Given the description of an element on the screen output the (x, y) to click on. 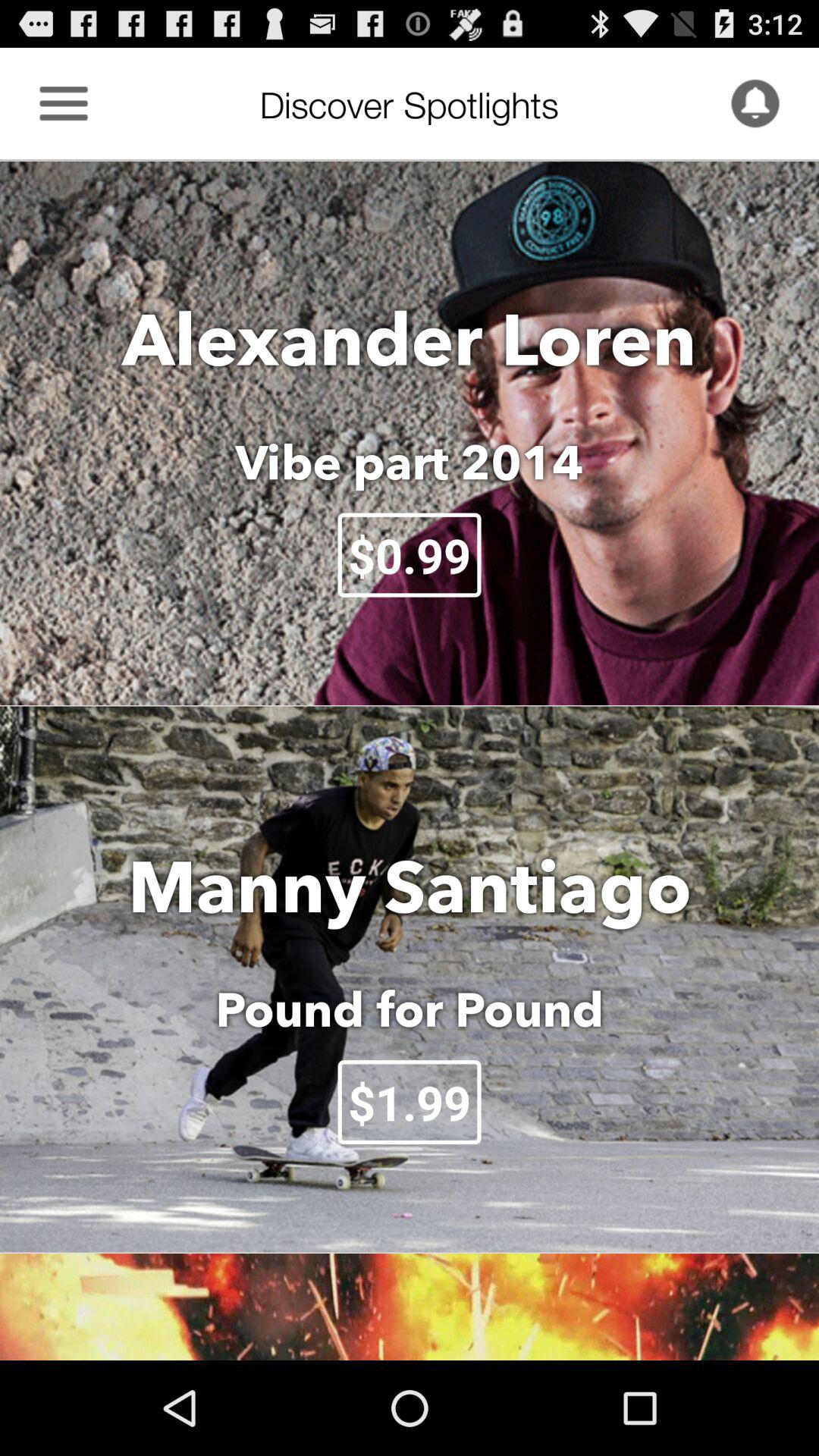
turn off the alexander loren (409, 338)
